Given the description of an element on the screen output the (x, y) to click on. 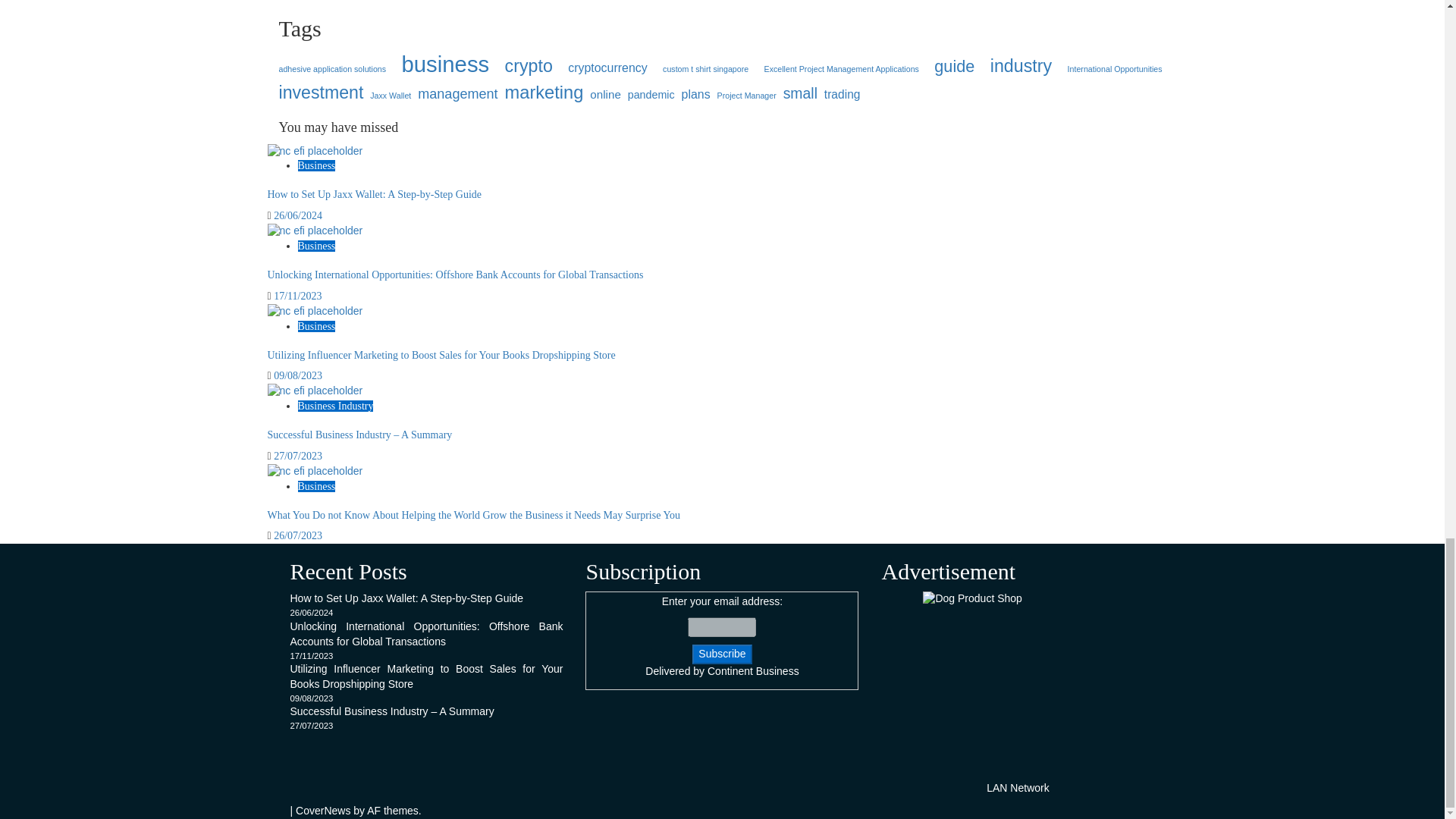
Subscribe (722, 654)
